Given the description of an element on the screen output the (x, y) to click on. 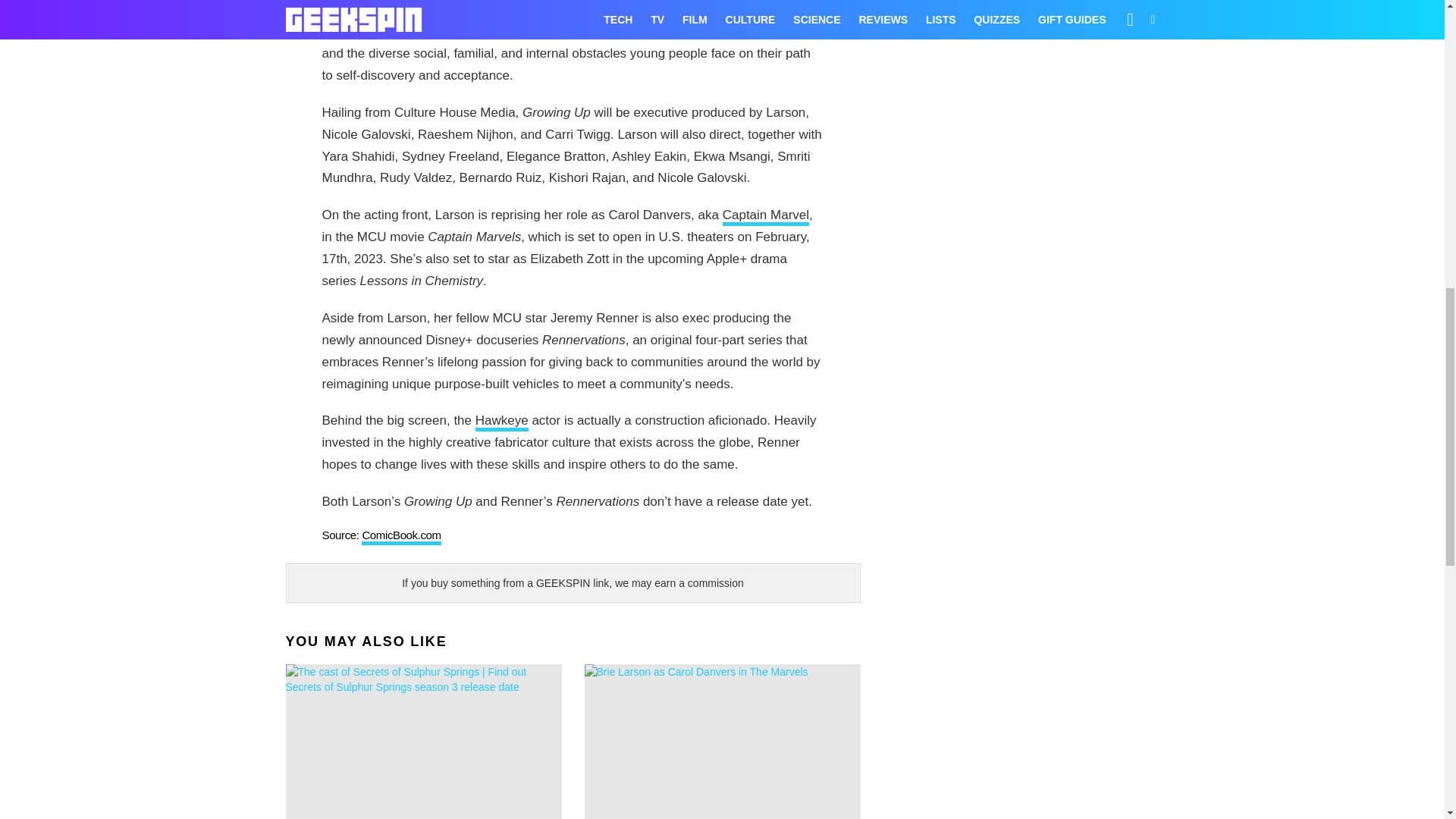
Captain Marvel (765, 217)
Is there a Secrets of Sulphur Springs season 3? (422, 741)
Hawkeye (502, 422)
Brie Larson turns into a Disney Princess in The Marvels leak (721, 741)
ComicBook.com (401, 536)
